Given the description of an element on the screen output the (x, y) to click on. 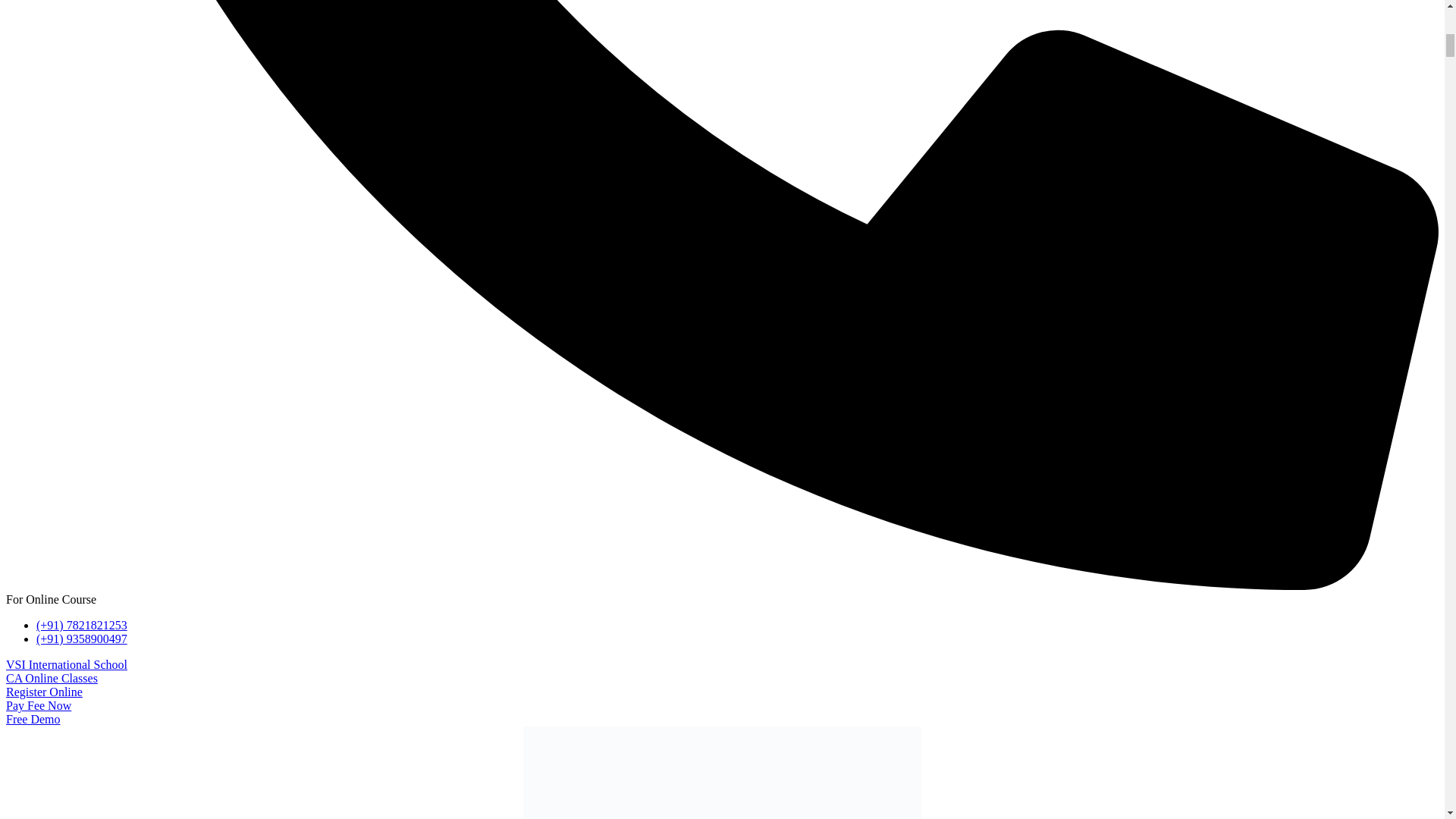
VSI International School (66, 664)
CA Online Classes (51, 677)
Pay Fee Now (38, 705)
CA Online Classes (51, 677)
Free Demo (33, 718)
Free Demo (33, 718)
VSI International School (66, 664)
Register Online (43, 691)
Register Online (43, 691)
Pay Fee Now (38, 705)
